Given the description of an element on the screen output the (x, y) to click on. 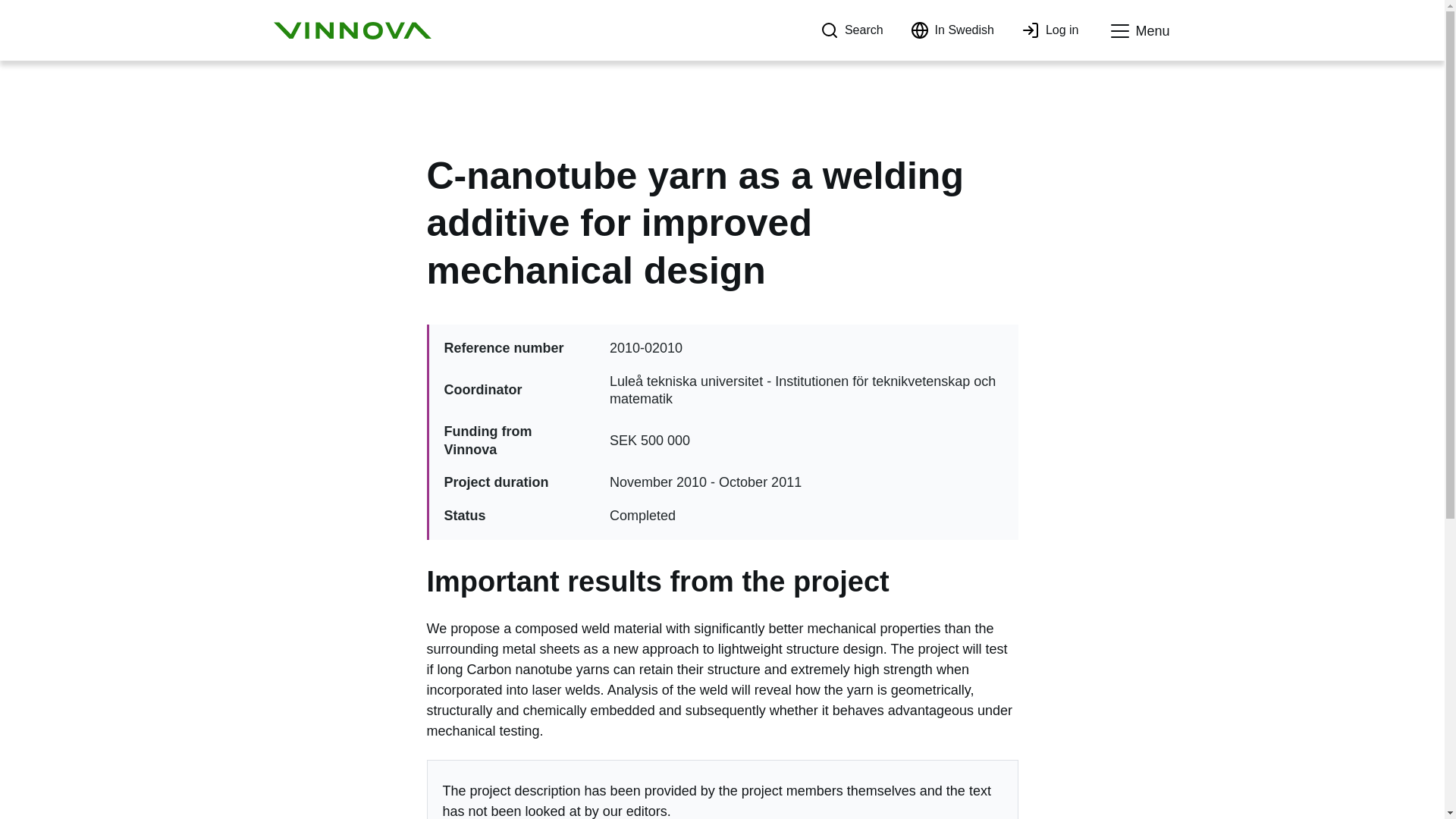
Menu (1137, 31)
Log in (1049, 29)
In Swedish (951, 29)
Vinnova logo, link to start page. (351, 29)
Menu (1137, 31)
Search (851, 29)
